Given the description of an element on the screen output the (x, y) to click on. 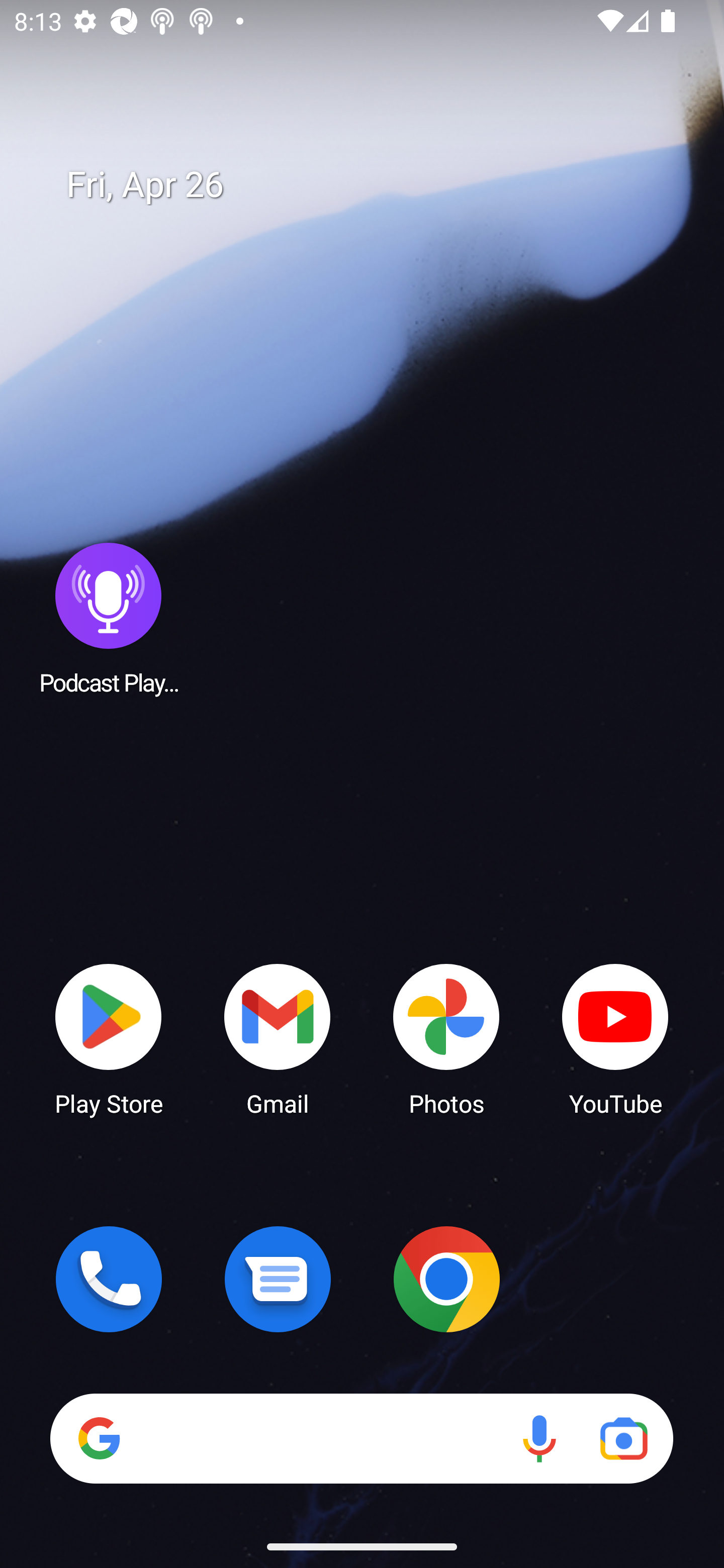
Fri, Apr 26 (375, 184)
Podcast Player (108, 617)
Play Store (108, 1038)
Gmail (277, 1038)
Photos (445, 1038)
YouTube (615, 1038)
Phone (108, 1279)
Messages (277, 1279)
Chrome (446, 1279)
Search Voice search Google Lens (361, 1438)
Voice search (539, 1438)
Google Lens (623, 1438)
